Given the description of an element on the screen output the (x, y) to click on. 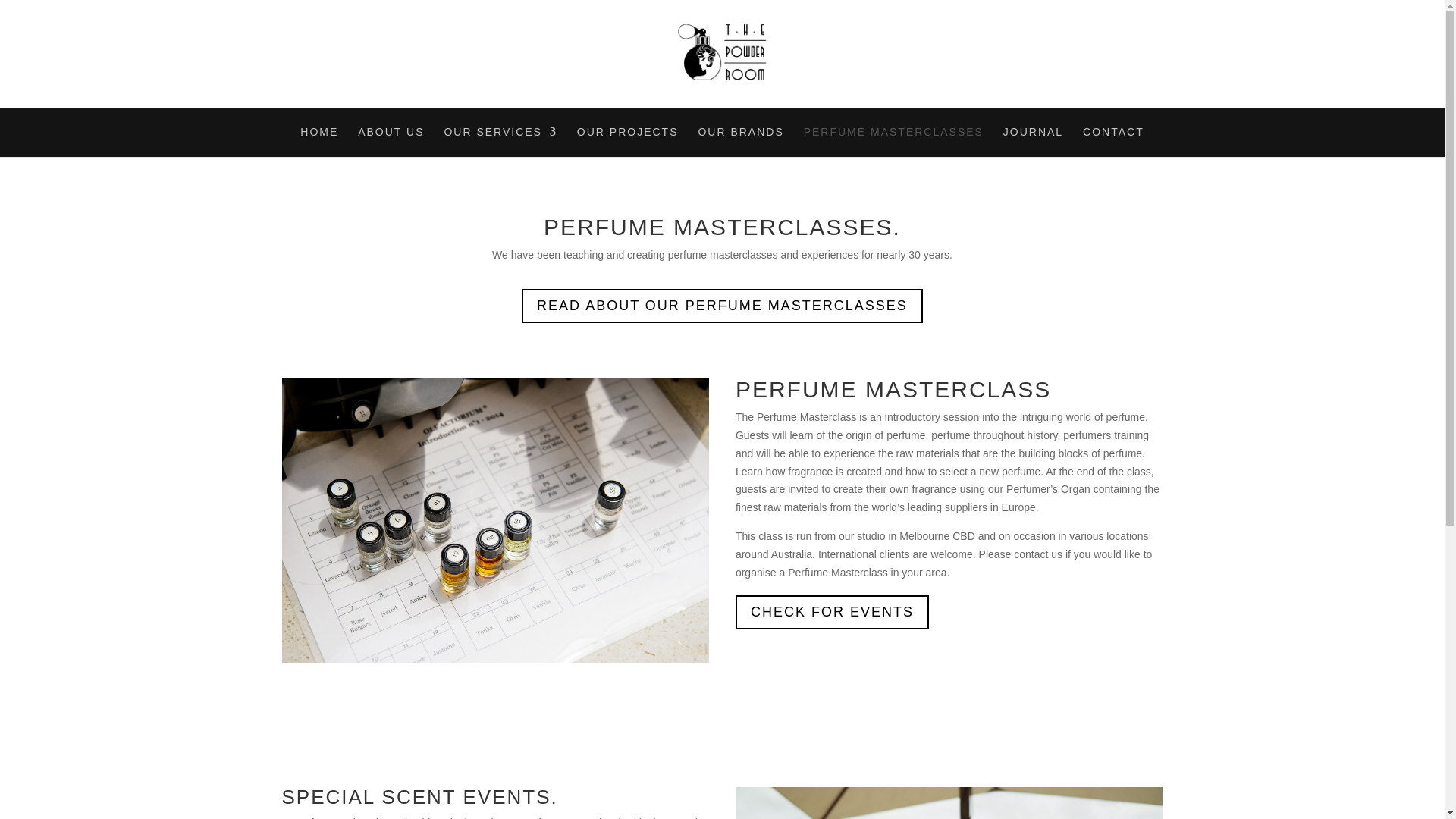
PERFUME MASTERCLASSES (893, 141)
ABOUT US (390, 141)
HOME (318, 141)
CHECK FOR EVENTS (831, 612)
CONTACT (1113, 141)
Rose Class (949, 803)
OUR SERVICES (500, 141)
JOURNAL (1032, 141)
OUR PROJECTS (627, 141)
OUR BRANDS (740, 141)
Language of Perfumery (496, 520)
READ ABOUT OUR PERFUME MASTERCLASSES (722, 305)
